Given the description of an element on the screen output the (x, y) to click on. 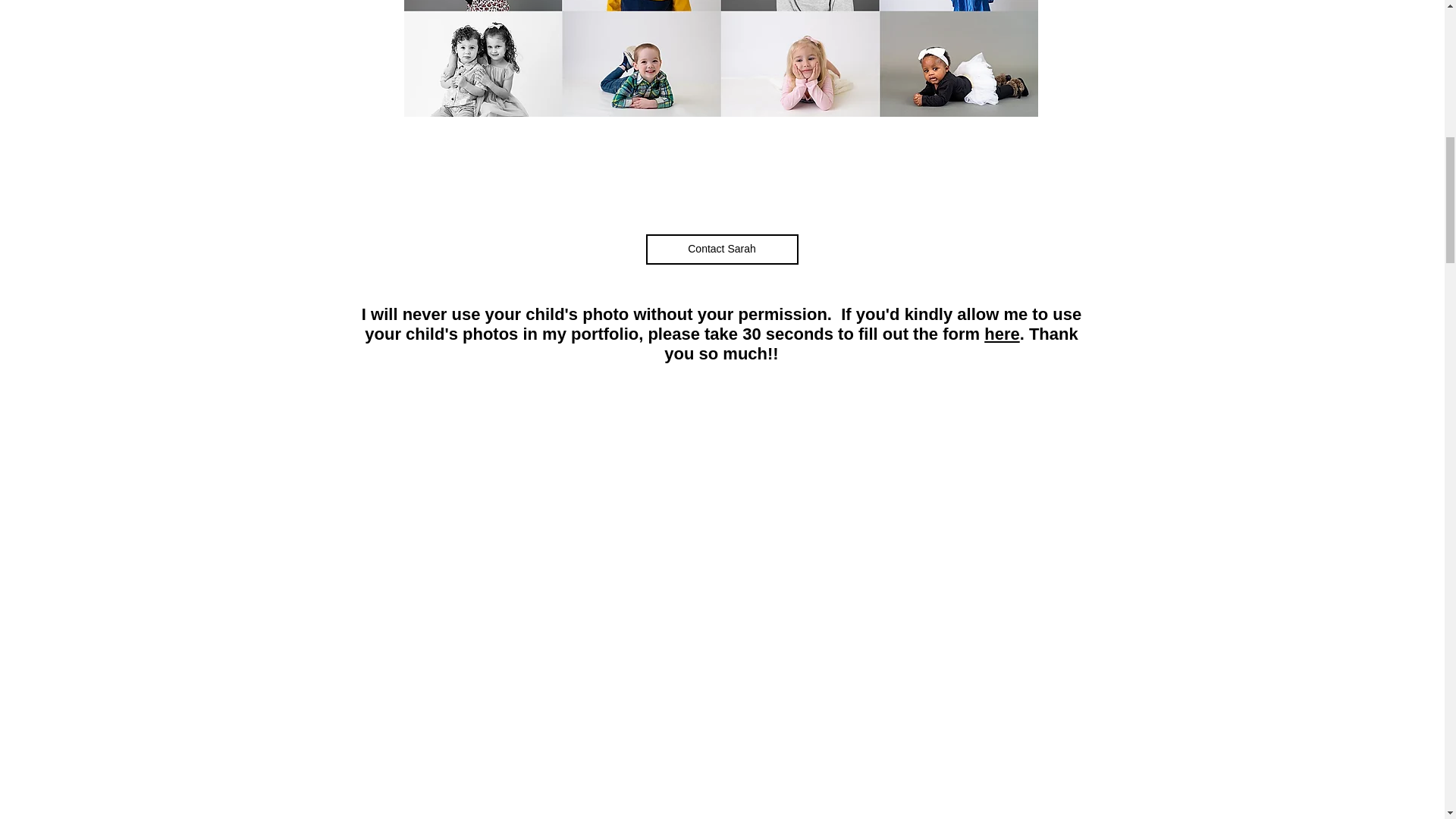
Contact Sarah (721, 249)
here (1001, 333)
